Given the description of an element on the screen output the (x, y) to click on. 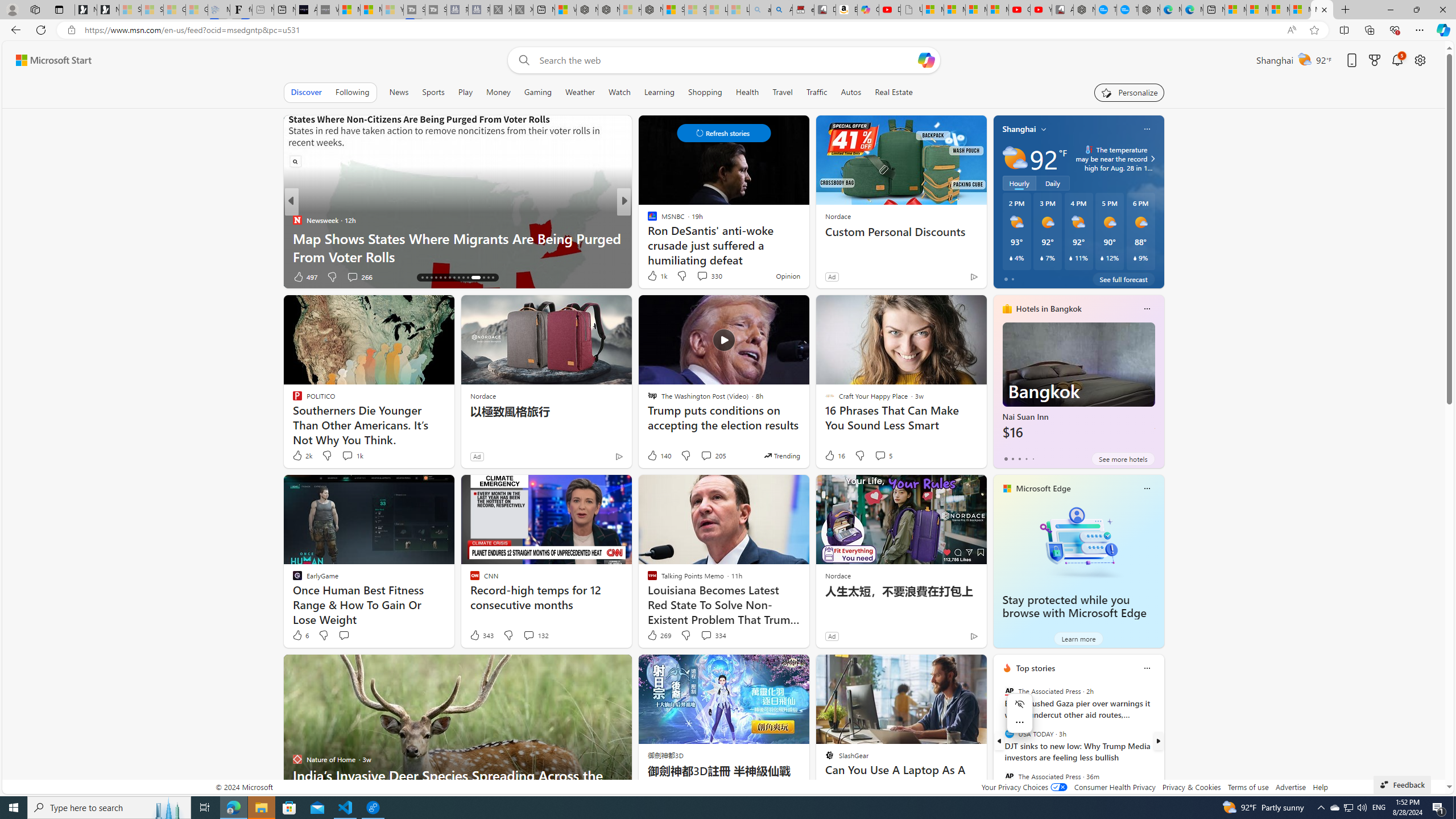
Streaming Coverage | T3 - Sleeping (413, 9)
View comments 55 Comment (353, 276)
tab-1 (1012, 458)
Health (746, 92)
View comments 55 Comment (349, 276)
View comments 96 Comment (703, 276)
News (398, 92)
AI Voice Changer for PC and Mac - Voice.ai (306, 9)
Sports (432, 92)
Nai Suan Inn (1077, 385)
